Given the description of an element on the screen output the (x, y) to click on. 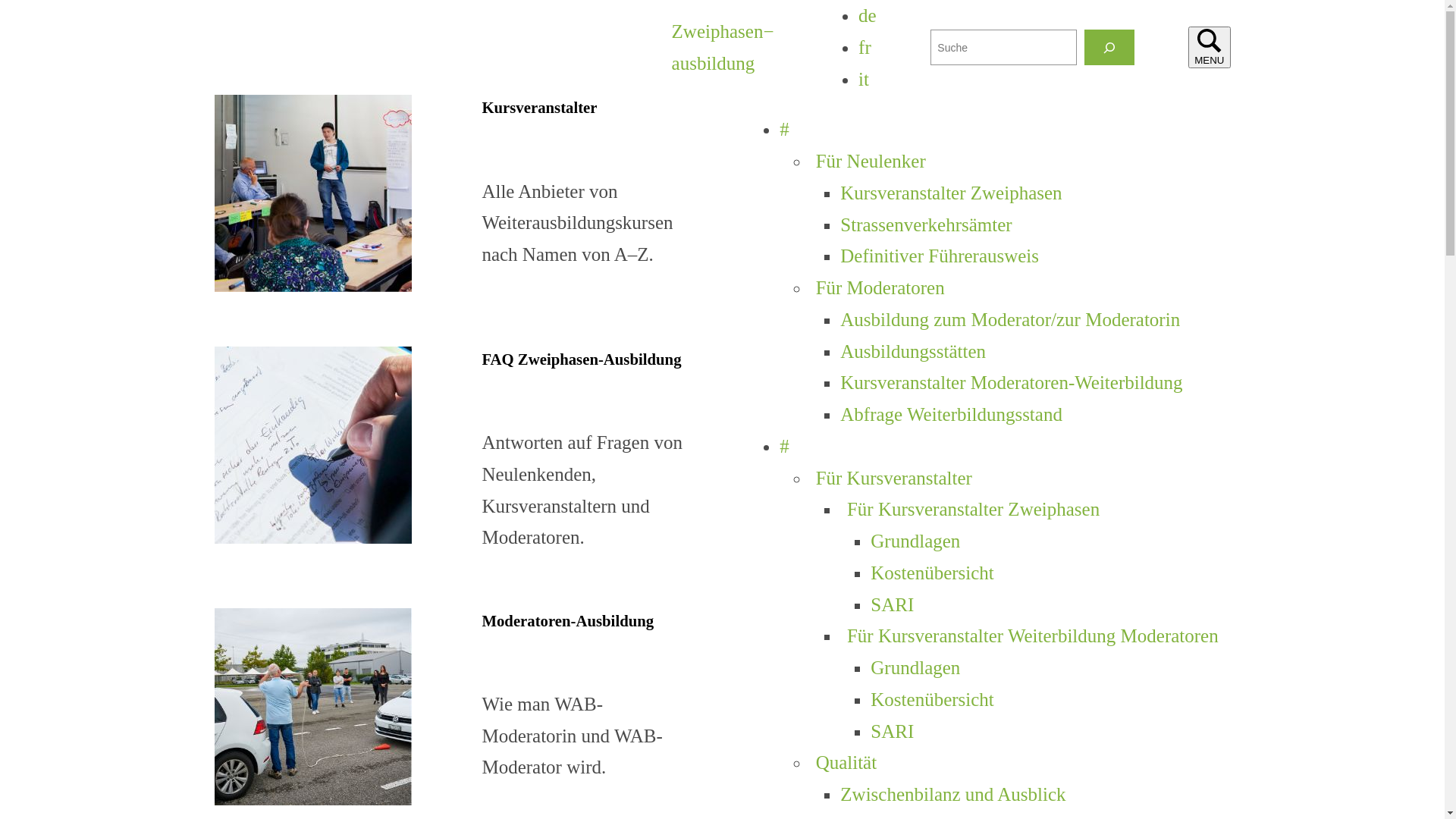
Kursveranstalter Moderatoren-Weiterbildung Element type: text (1011, 382)
de Element type: text (867, 15)
# Element type: text (784, 129)
fr Element type: text (864, 47)
SARI Element type: text (891, 604)
MENU Element type: text (1209, 47)
Grundlagen Element type: text (915, 667)
Grundlagen Element type: text (915, 540)
SARI Element type: text (891, 730)
Abfrage Weiterbildungsstand Element type: text (951, 414)
# Element type: text (784, 446)
it Element type: text (863, 78)
Zwischenbilanz und Ausblick Element type: text (952, 794)
Ausbildung zum Moderator/zur Moderatorin Element type: text (1009, 319)
Kursveranstalter Zweiphasen Element type: text (950, 192)
